Given the description of an element on the screen output the (x, y) to click on. 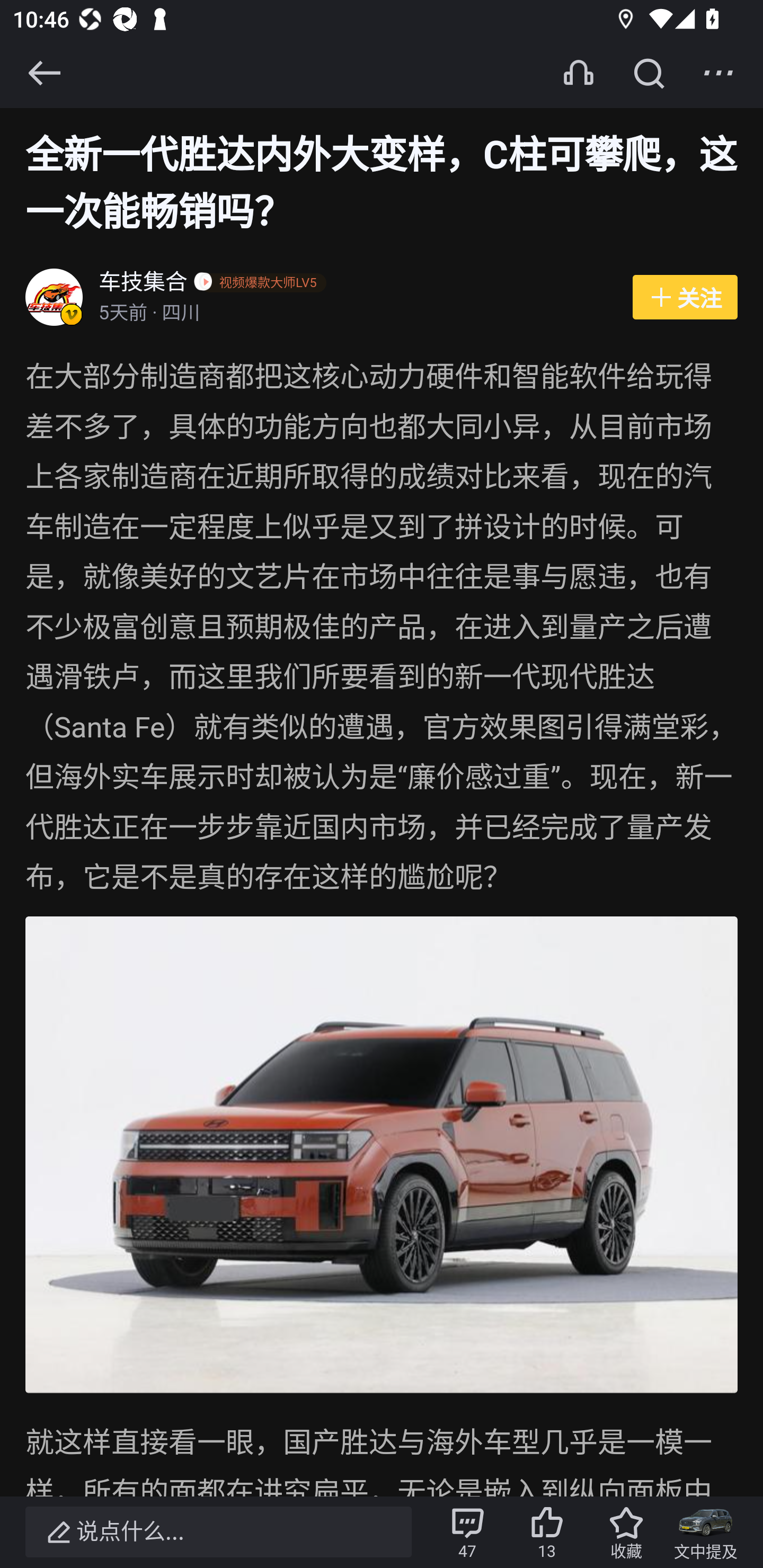
 (44, 72)
 (648, 72)
 (718, 72)
车技集合 (143, 283)
c9cb558bacd790f5b8d2c5f3a44a9243 视频爆款大师LV5 (263, 283)
关注 (684, 297)
5天前 · 四川 5天前  · 四川 (355, 314)
d_QKbCnP2pKKxzosxSBKUEeJ_h8 (381, 1154)
 47 (467, 1531)
13 (546, 1531)
收藏 (625, 1531)
文中提及 (705, 1531)
 说点什么... (218, 1531)
